Given the description of an element on the screen output the (x, y) to click on. 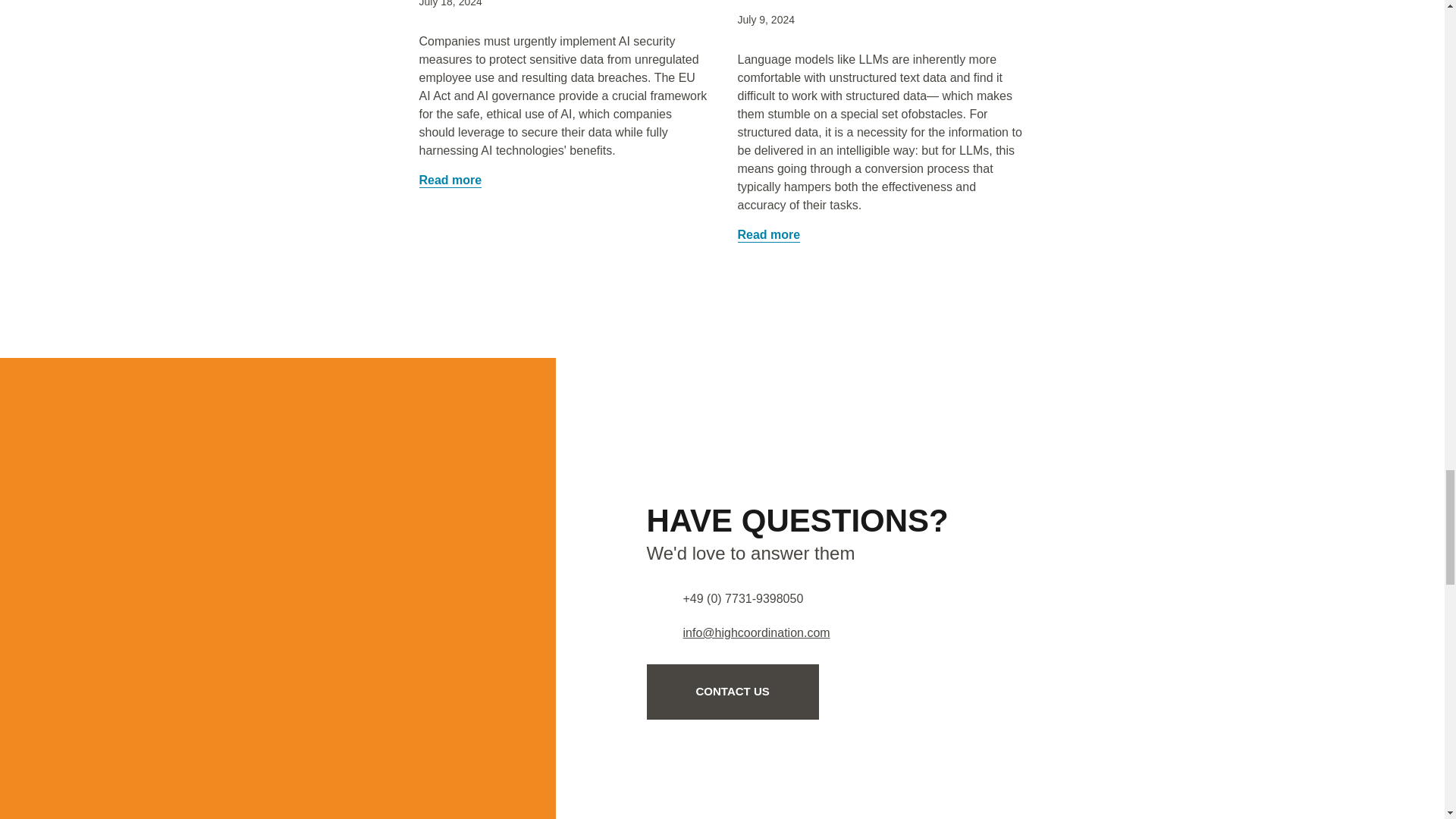
CONTACT US (732, 691)
